Given the description of an element on the screen output the (x, y) to click on. 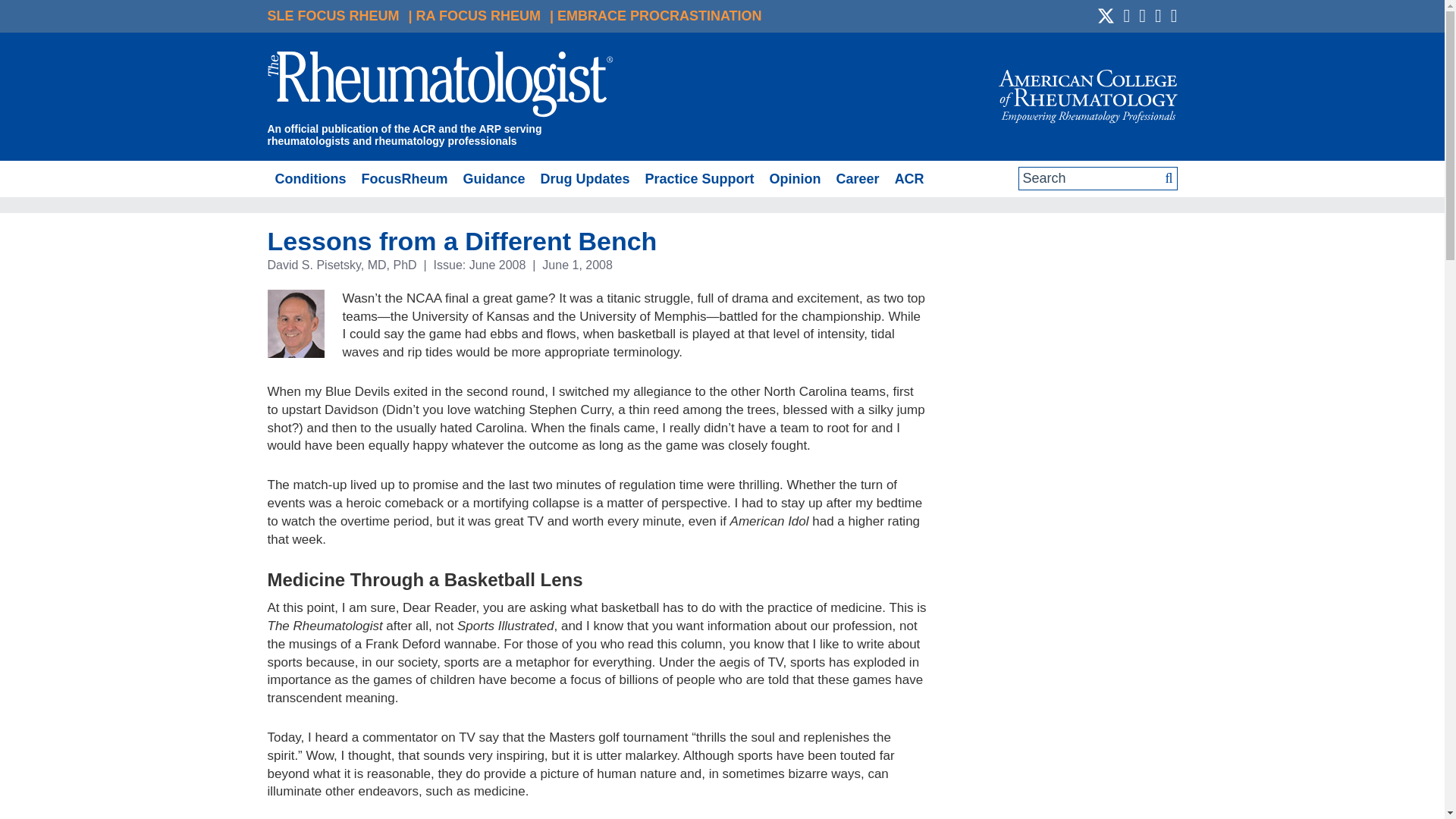
SLE FOCUS RHEUM (332, 15)
Guidance (493, 178)
Conditions (309, 178)
The Rheumatologist (439, 86)
FocusRheum (403, 178)
